Given the description of an element on the screen output the (x, y) to click on. 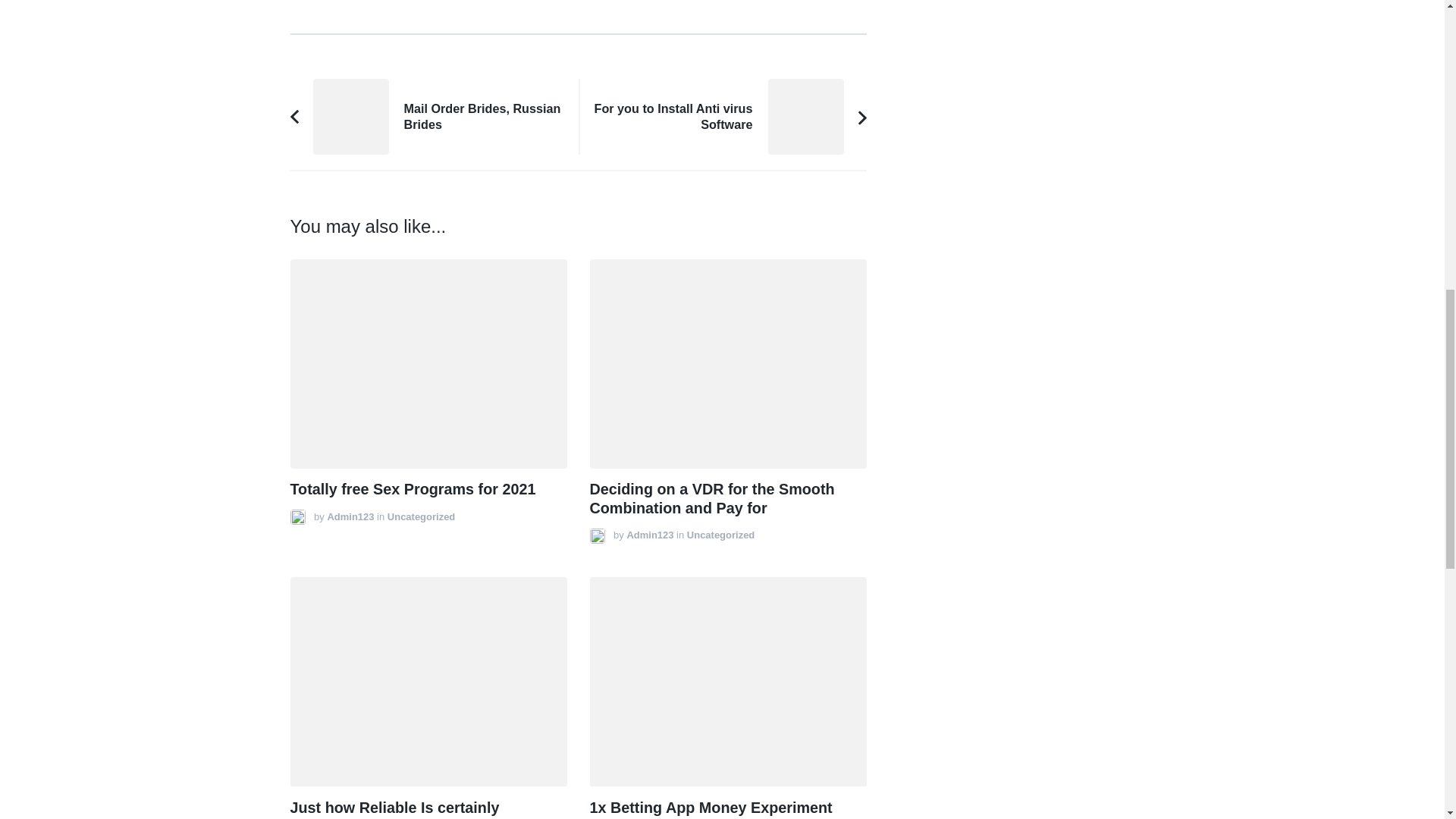
Deciding on a VDR for the Smooth Combination and Pay for (711, 498)
Uncategorized (420, 516)
Totally free Sex Programs for 2021 (412, 488)
For you to Install Anti virus Software (722, 116)
Admin123 (433, 116)
Just how Reliable Is certainly Scanguard? (350, 516)
Uncategorized (394, 809)
Admin123 (720, 534)
1x Betting App Money Experiment (649, 534)
